Given the description of an element on the screen output the (x, y) to click on. 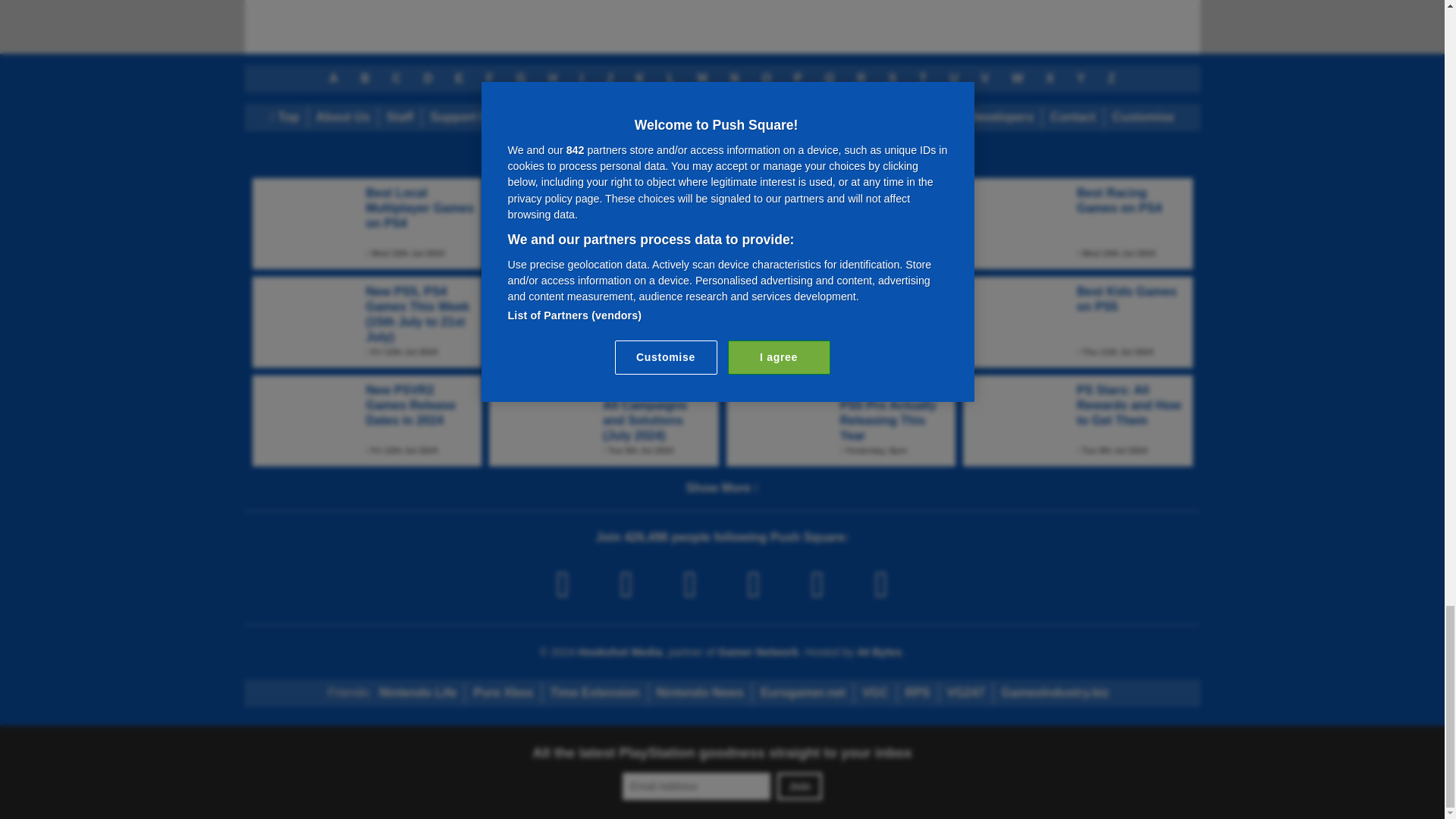
Join (799, 786)
